Given the description of an element on the screen output the (x, y) to click on. 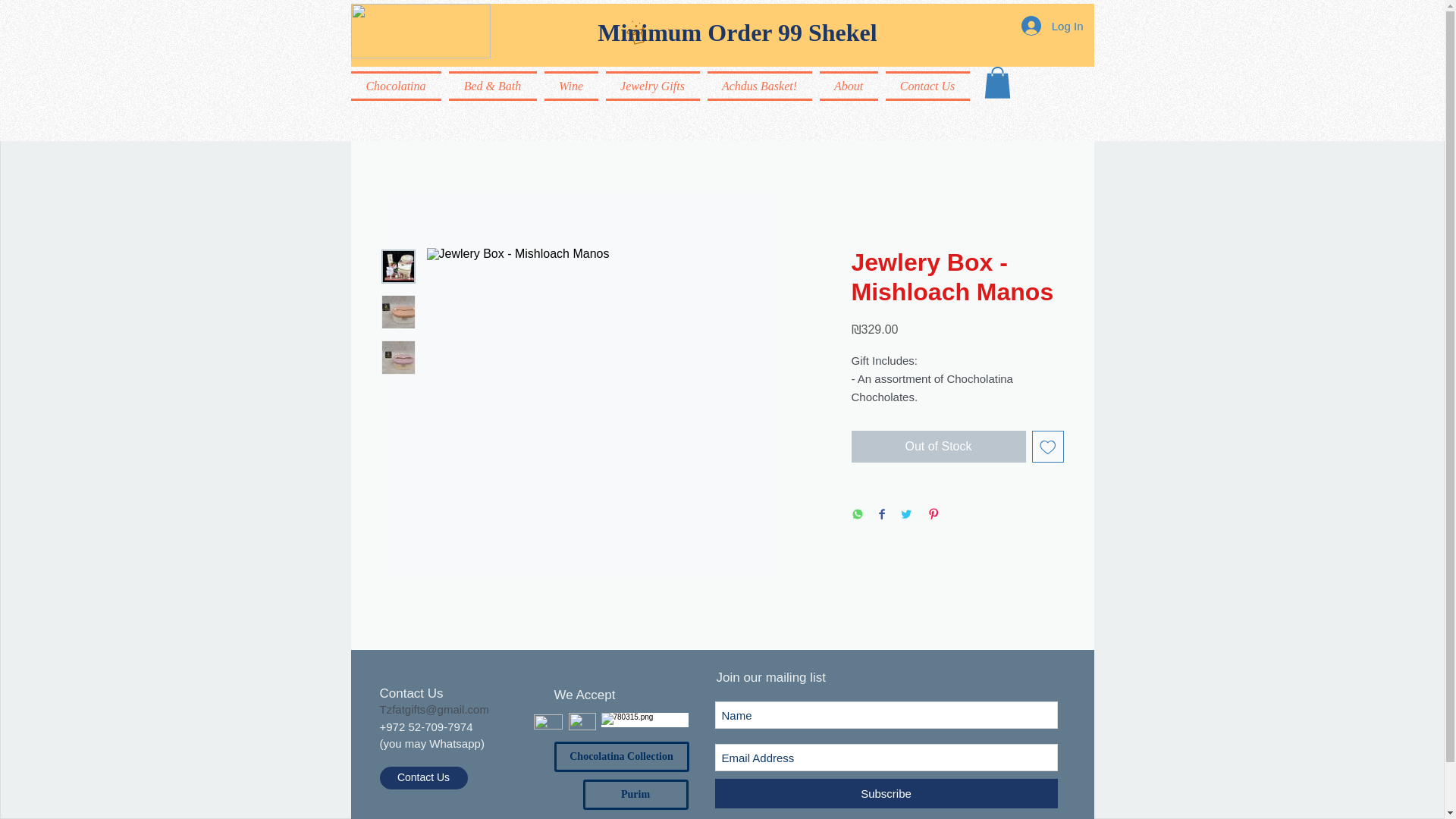
Subscribe (885, 793)
About (848, 85)
Contact Us (924, 85)
Achdus Basket! (759, 85)
Jewelry Gifts (652, 85)
Chocolatina Collection (620, 757)
Purim (634, 794)
Out of Stock (937, 446)
Chocolatina (397, 85)
Contact Us (422, 777)
